Given the description of an element on the screen output the (x, y) to click on. 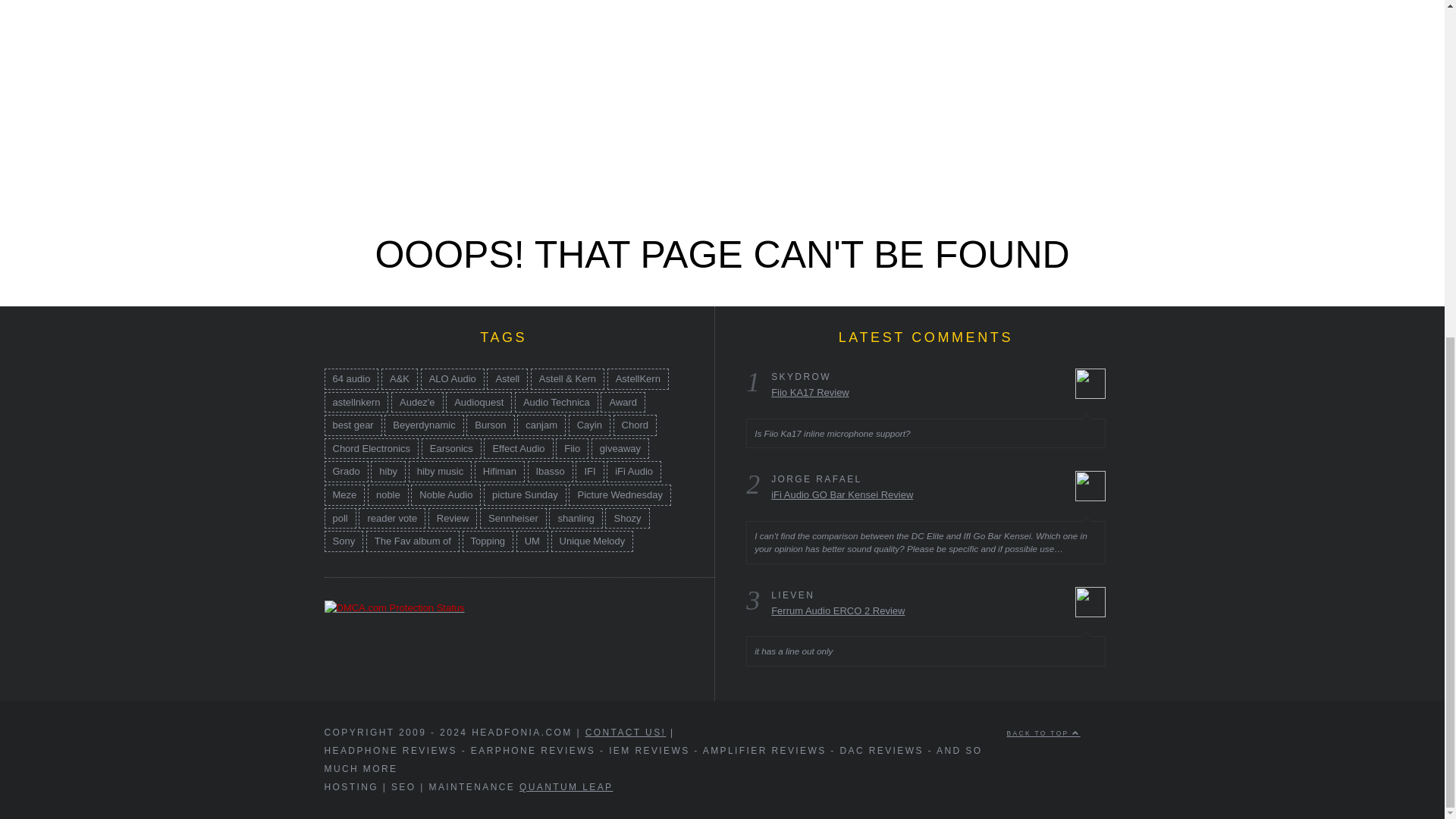
DMCA.com Protection Status (394, 607)
